Given the description of an element on the screen output the (x, y) to click on. 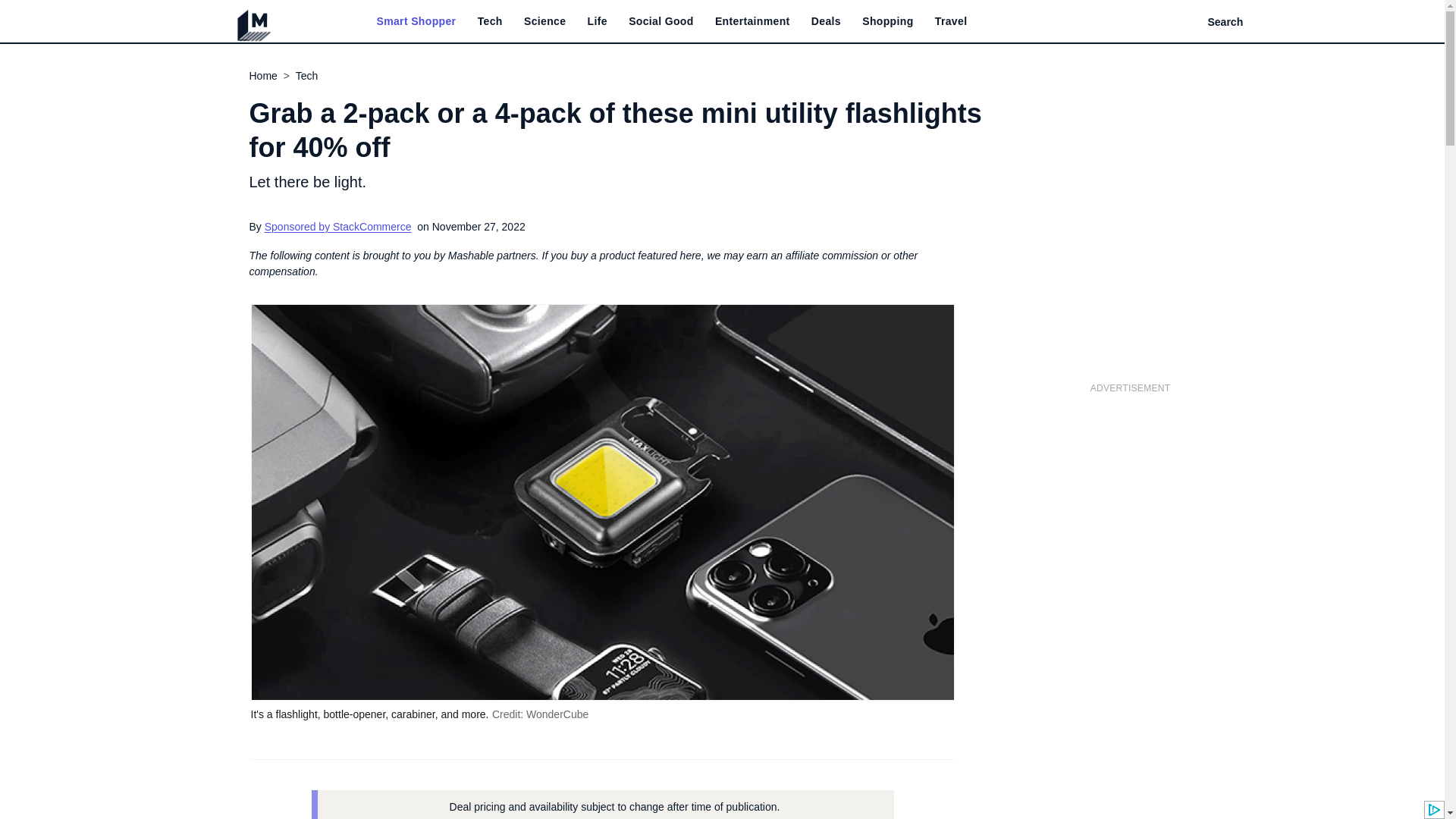
Travel (951, 21)
Entertainment (752, 21)
Tech (489, 21)
Life (597, 21)
Shopping (886, 21)
Smart Shopper (415, 21)
Deals (825, 21)
Science (545, 21)
Social Good (661, 21)
